Given the description of an element on the screen output the (x, y) to click on. 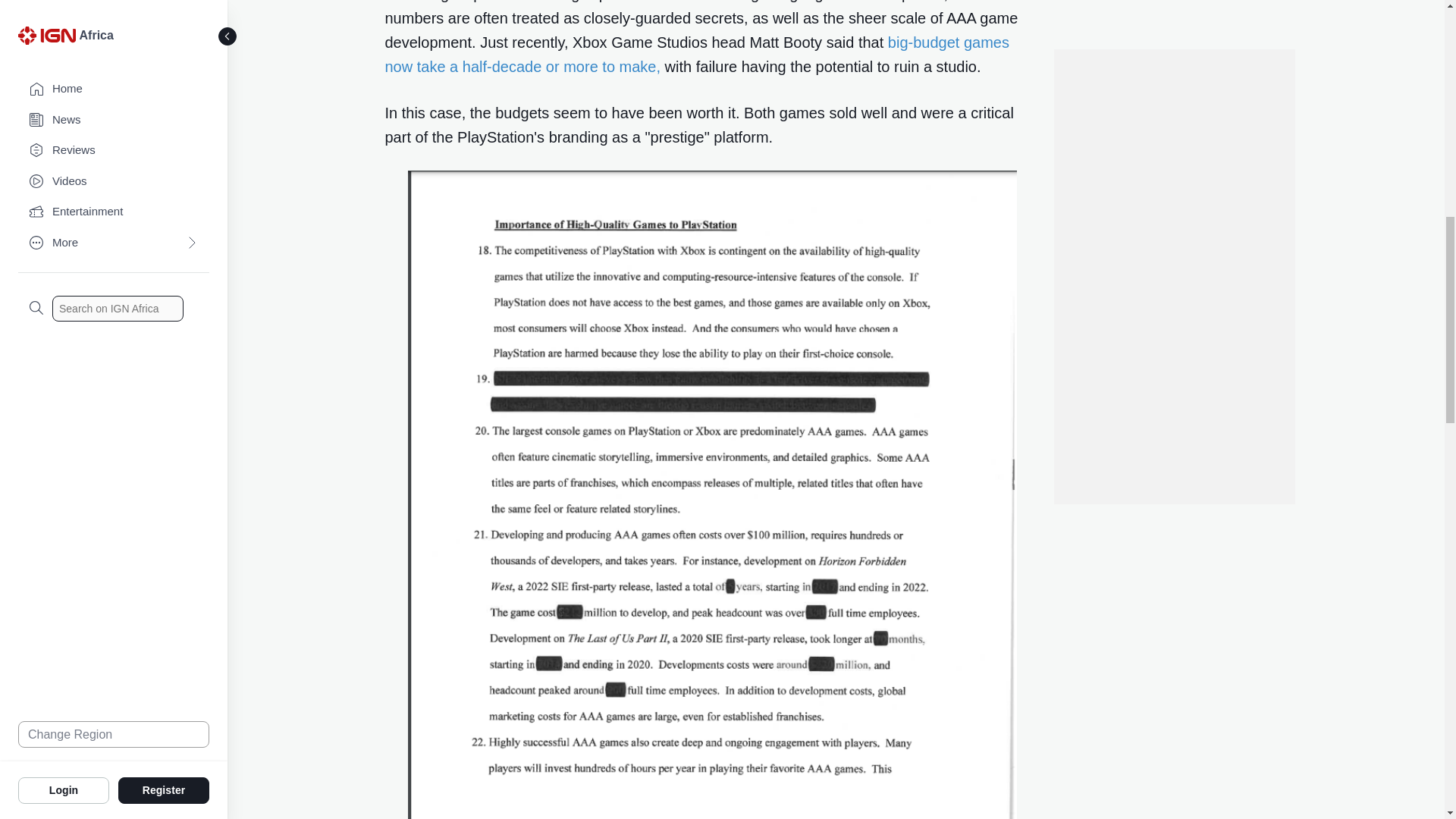
big-budget games now take a half-decade or more to make, (697, 54)
3rd party ad content (1173, 117)
